Given the description of an element on the screen output the (x, y) to click on. 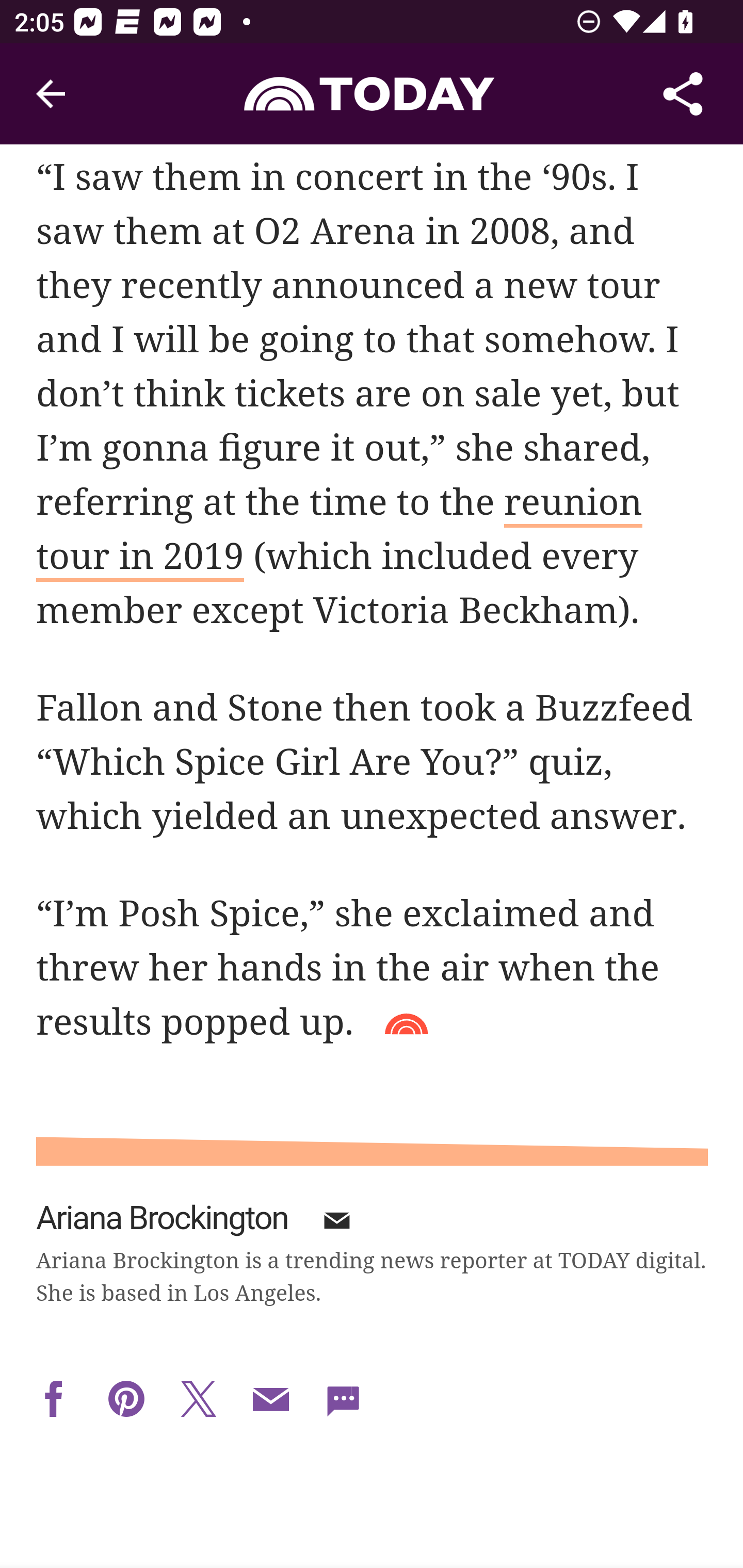
Navigate up (50, 93)
Share Article, button (683, 94)
Header, Today (371, 93)
reunion tour in 2019 (339, 532)
Ariana Brockington (162, 1219)
 (336, 1225)
 (54, 1400)
 (126, 1400)
 (199, 1400)
 (270, 1400)
 (343, 1400)
